Given the description of an element on the screen output the (x, y) to click on. 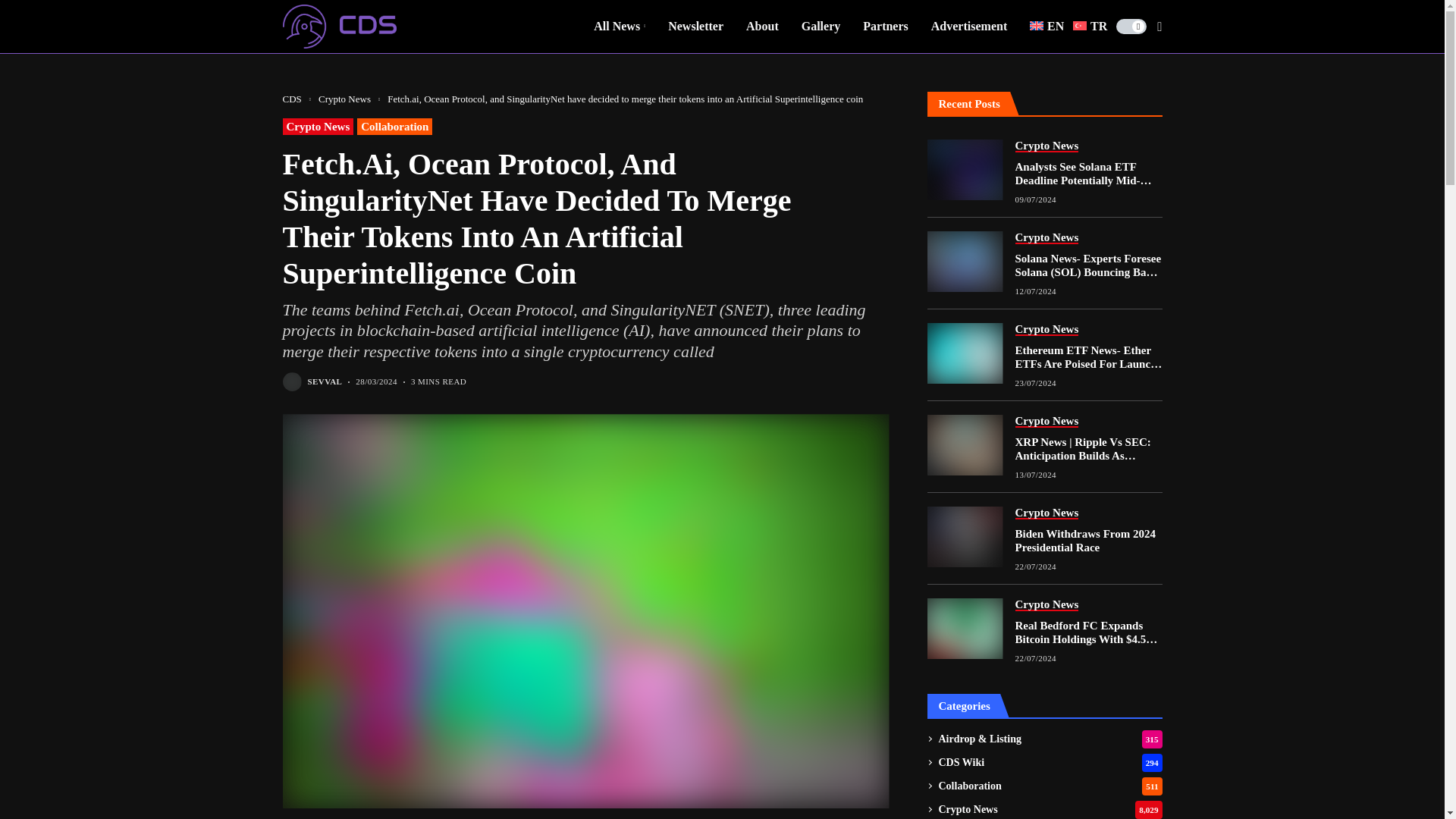
Posts by sevval (324, 381)
All News (619, 26)
Newsletter (695, 26)
Advertisement (969, 26)
